Given the description of an element on the screen output the (x, y) to click on. 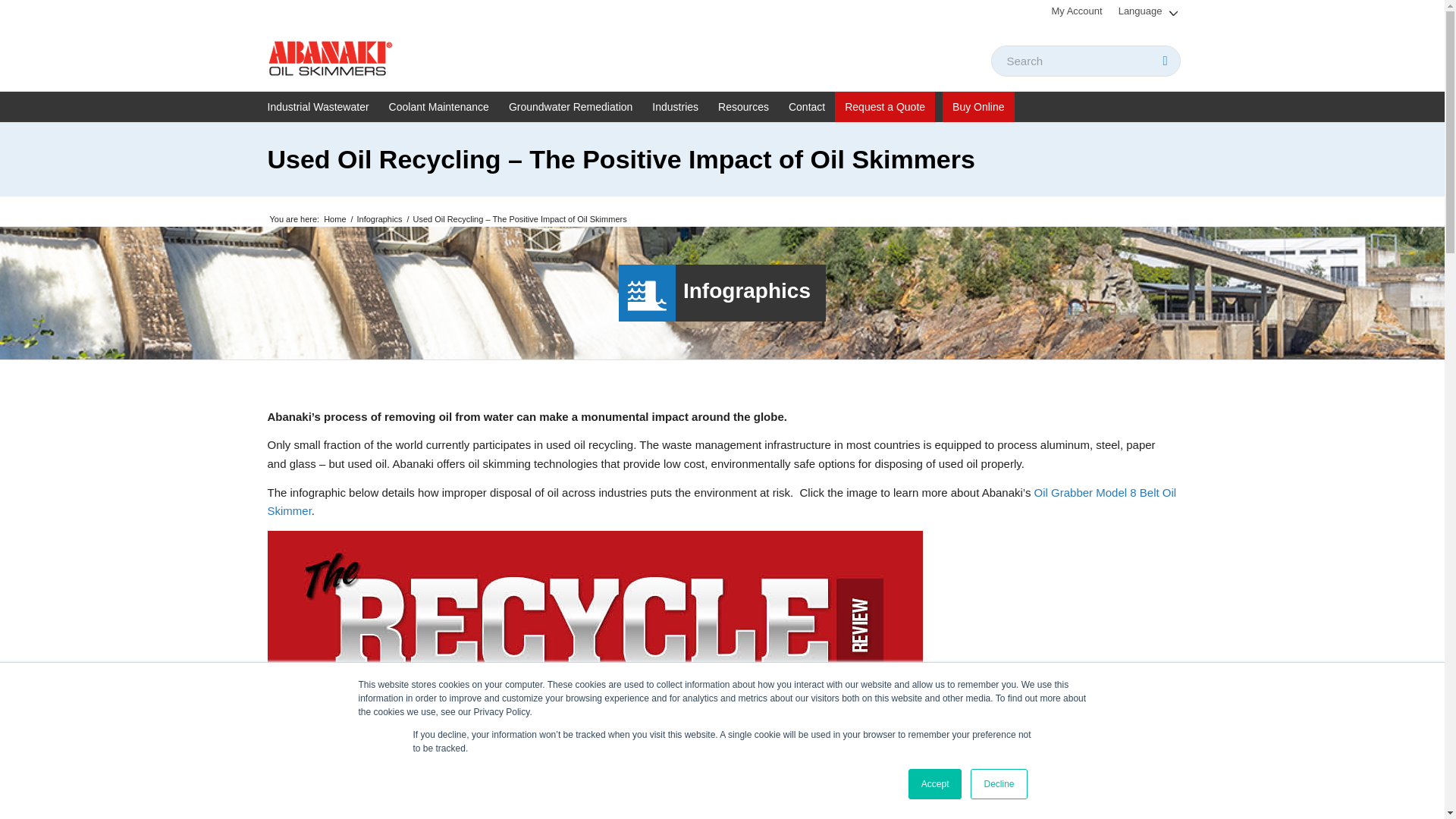
Click to start search (1164, 60)
abanaki-logo-sized3 (329, 56)
My Account (1076, 11)
Industrial Wastewater (322, 106)
Decline (998, 784)
Accept (935, 784)
Opens a widget where you can chat to one of our agents (1386, 792)
Language (1147, 11)
Infographics (379, 219)
Abanaki Oil Skimmers (334, 219)
Coolant Maintenance (438, 106)
